Given the description of an element on the screen output the (x, y) to click on. 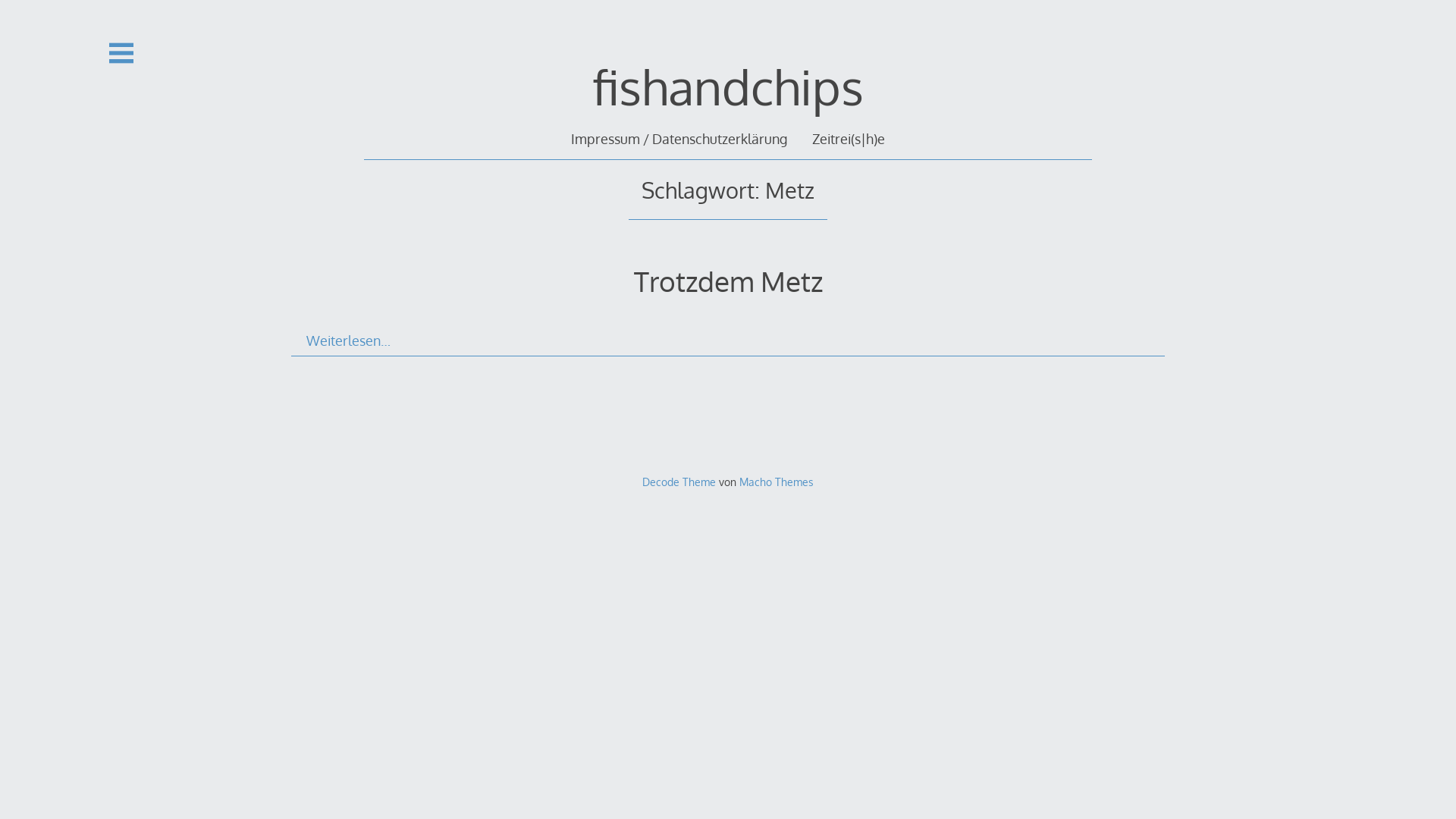
Macho Themes Element type: text (776, 481)
fishandchips Element type: text (728, 85)
Seitenleiste anzeigen Element type: hover (121, 52)
Zeitrei(s|h)e Element type: text (848, 138)
Trotzdem Metz Element type: text (727, 280)
Decode Theme Element type: text (678, 481)
